Given the description of an element on the screen output the (x, y) to click on. 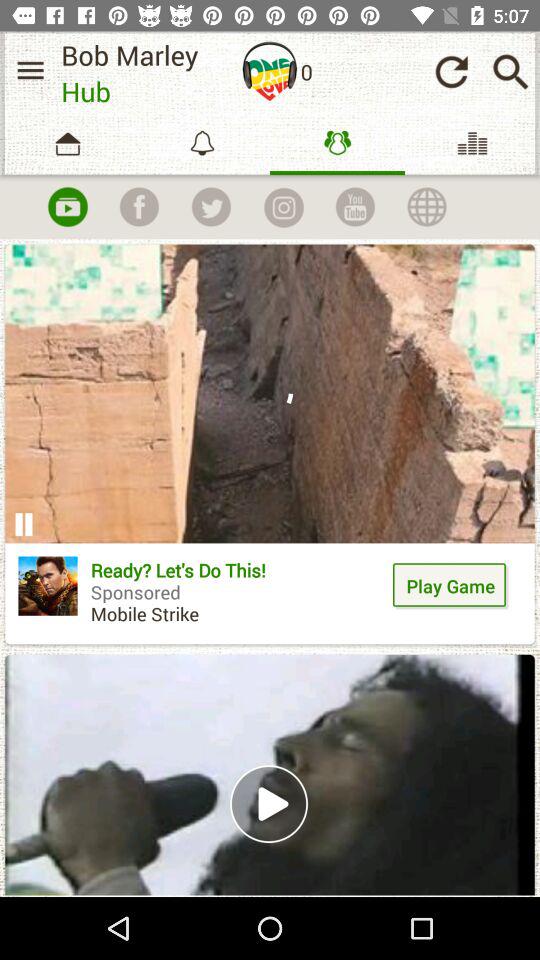
open icon next to the 0 icon (269, 71)
